Given the description of an element on the screen output the (x, y) to click on. 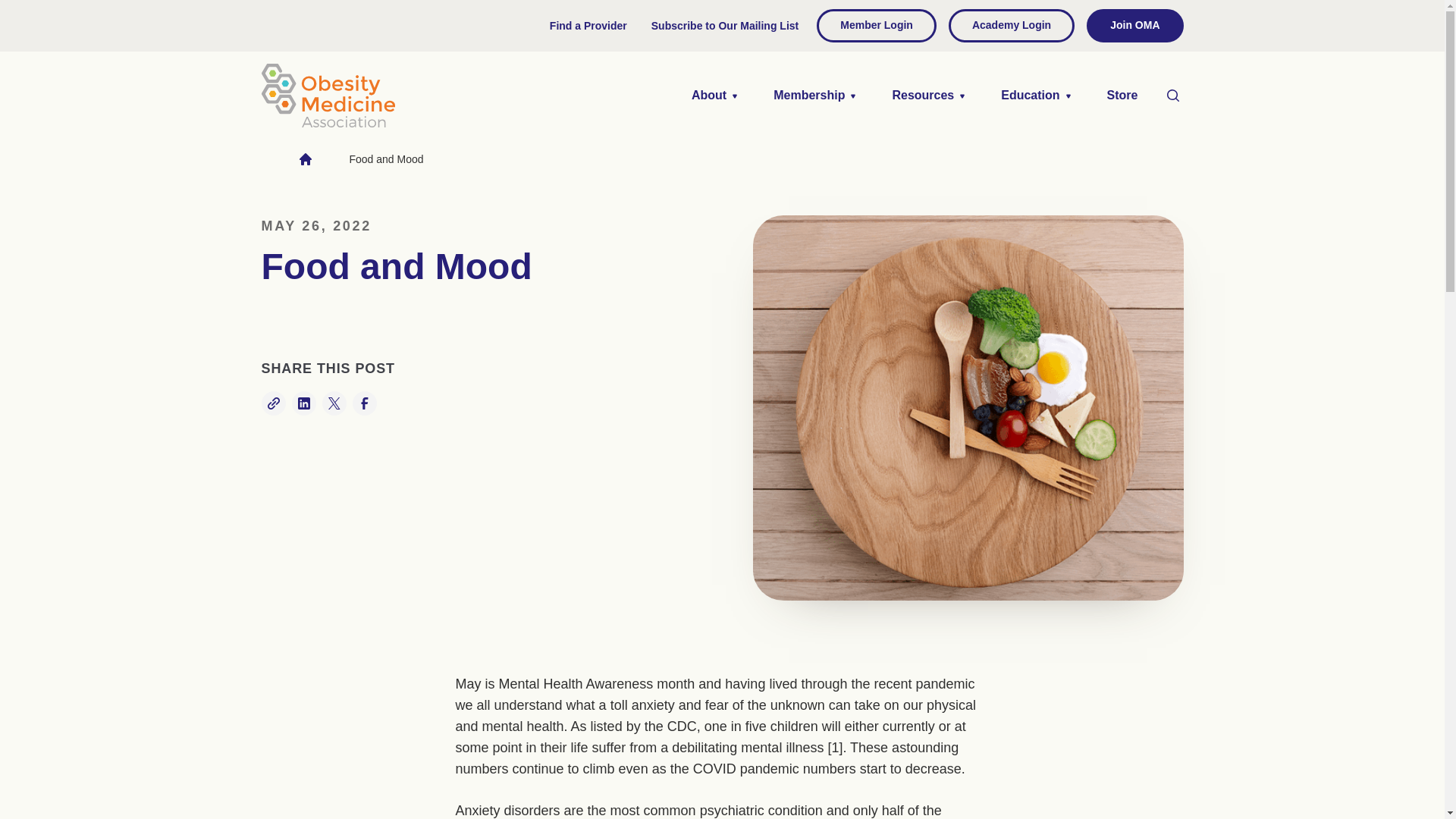
Education (1034, 95)
Academy Login (1011, 25)
Resources (927, 95)
Join OMA (1134, 25)
Member Login (876, 25)
Subscribe to Our Mailing List (725, 25)
Membership (814, 95)
Find a Provider (588, 25)
About (714, 95)
